Given the description of an element on the screen output the (x, y) to click on. 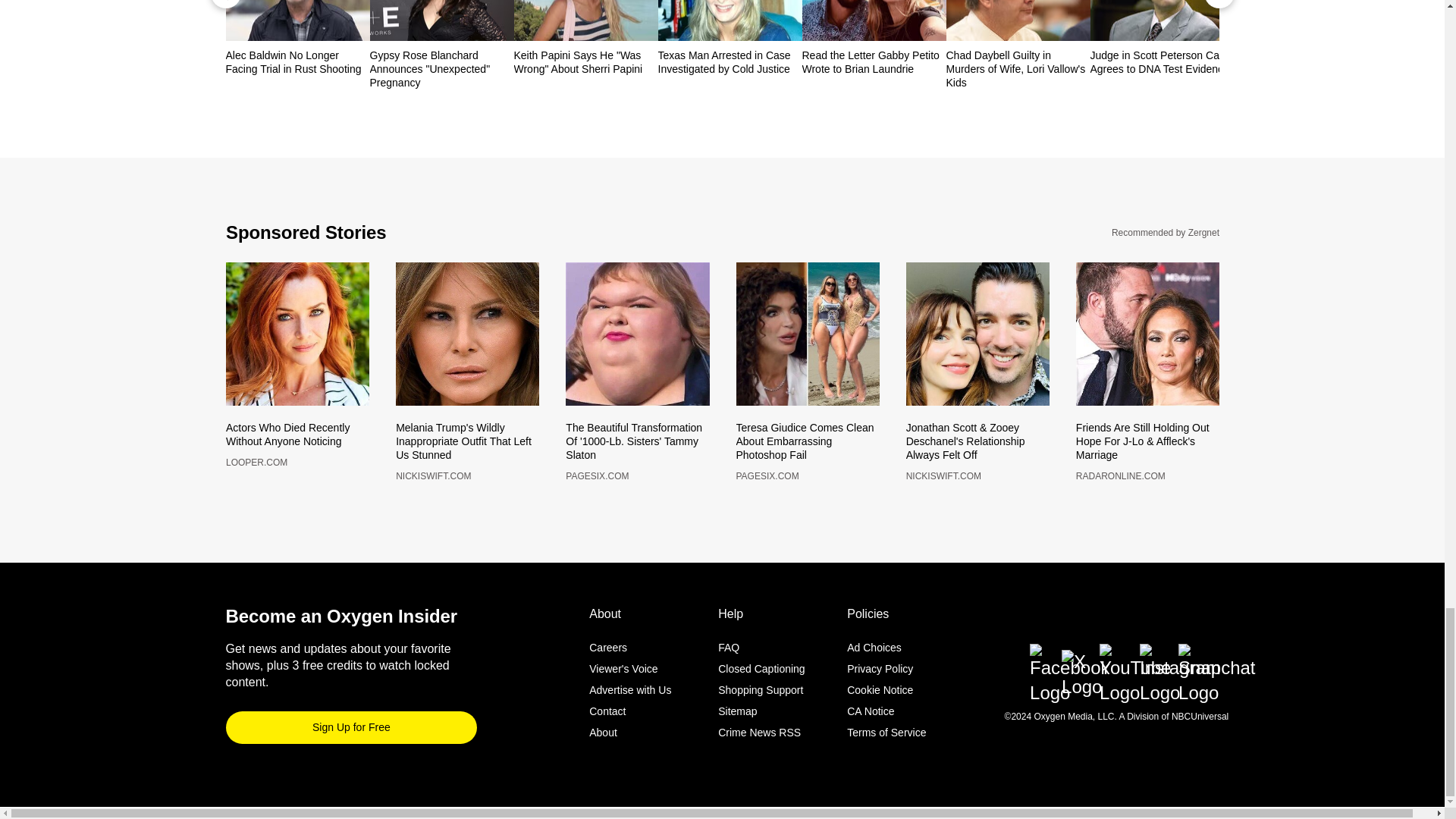
Keith Papini Says He "Was Wrong" About Sherri Papini (585, 62)
Texas Man Arrested in Case Investigated by Cold Justice (730, 62)
Advertise with Us (630, 684)
Gypsy Rose Blanchard Announces "Unexpected" Pregnancy (441, 68)
Alec Baldwin No Longer Facing Trial in Rust Shooting (297, 62)
